Given the description of an element on the screen output the (x, y) to click on. 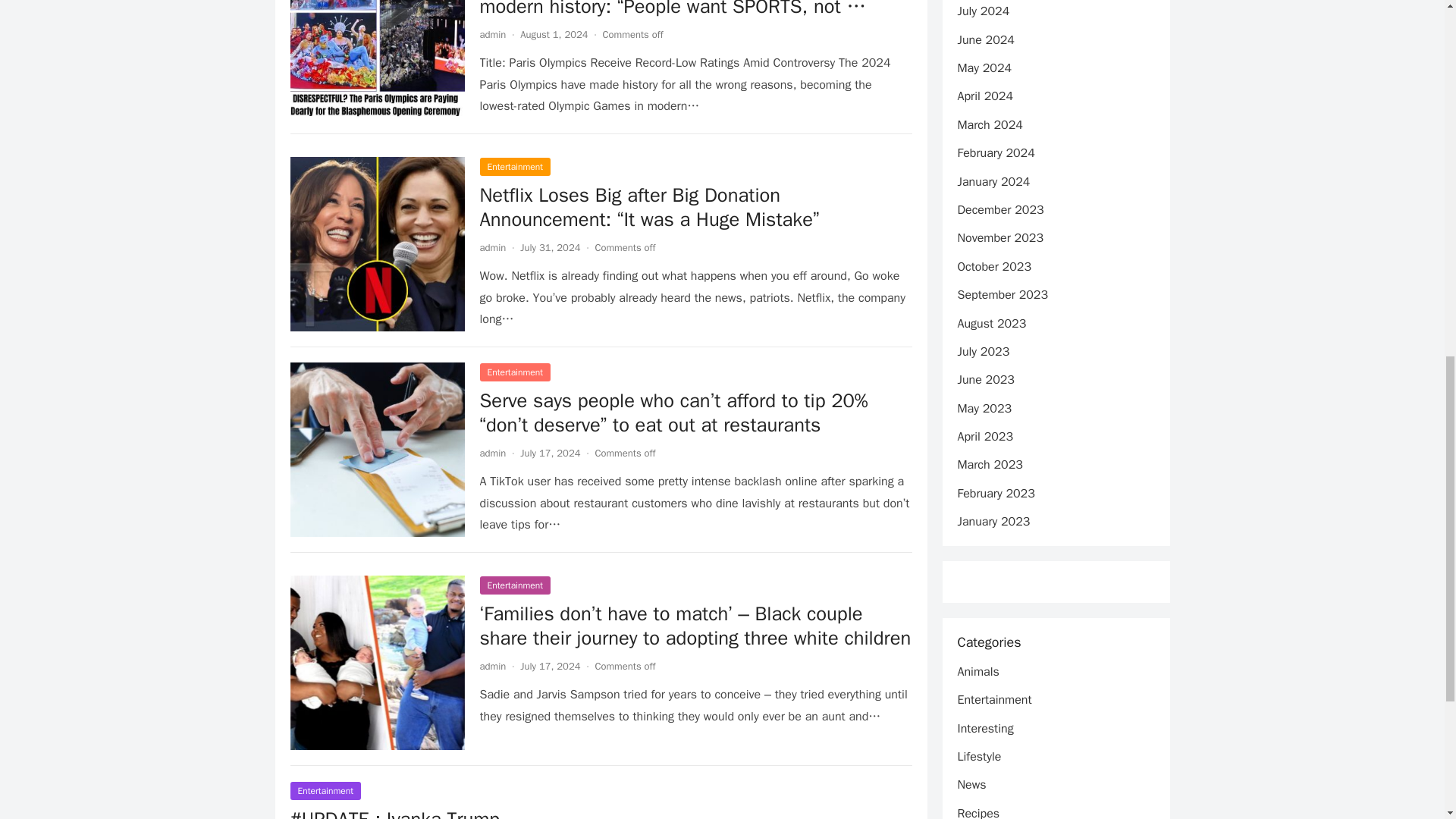
Posts by admin (492, 666)
Posts by admin (492, 246)
Posts by admin (492, 33)
Posts by admin (492, 452)
